Given the description of an element on the screen output the (x, y) to click on. 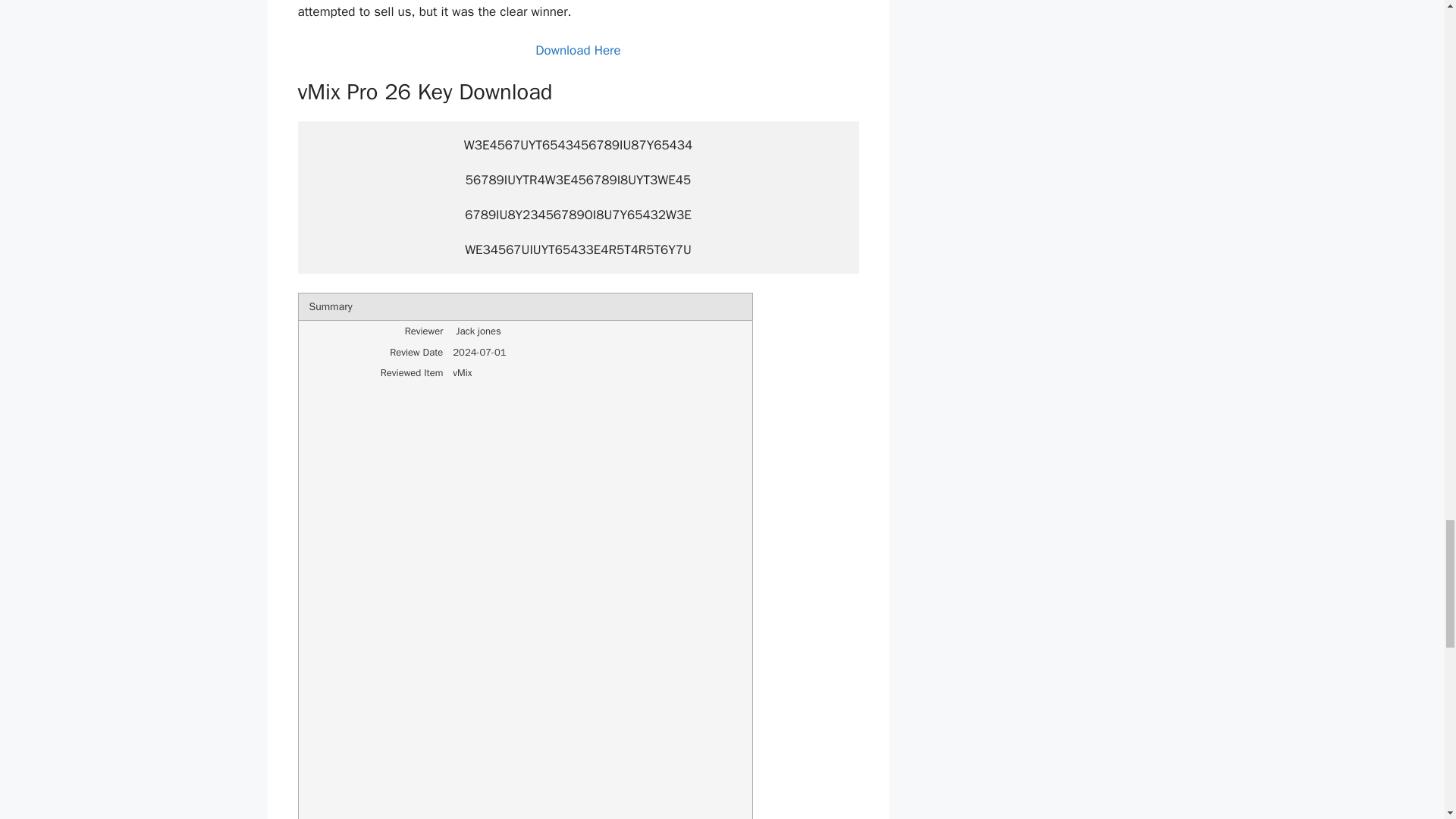
Download Here (577, 50)
